Given the description of an element on the screen output the (x, y) to click on. 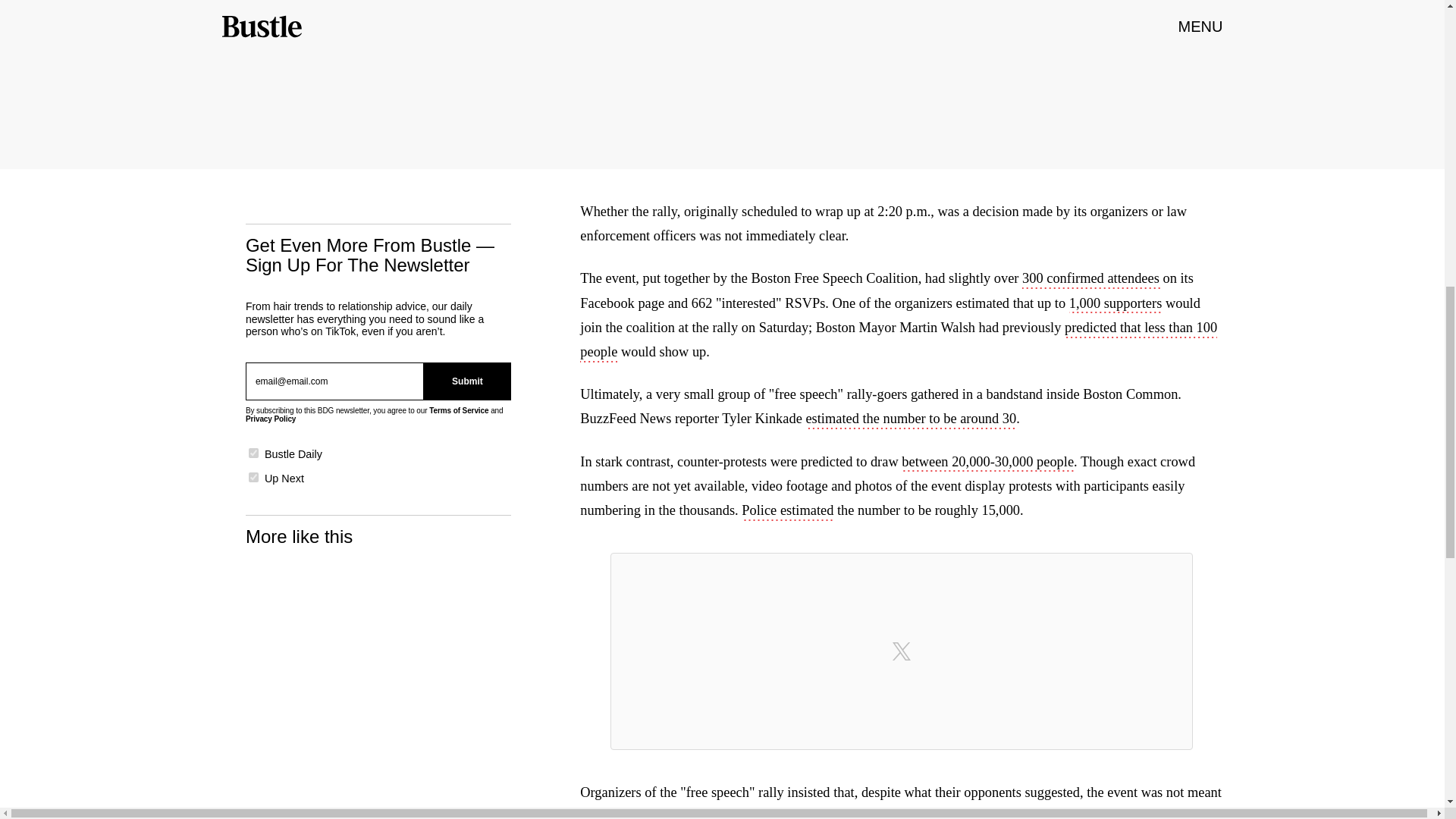
predicted that less than 100 people (898, 341)
300 confirmed attendees (1091, 280)
Privacy Policy (270, 418)
Submit (467, 381)
Police estimated (786, 511)
between 20,000-30,000 people (987, 463)
1,000 supporters (1114, 304)
estimated the number to be around 30 (910, 420)
Terms of Service (458, 410)
